Given the description of an element on the screen output the (x, y) to click on. 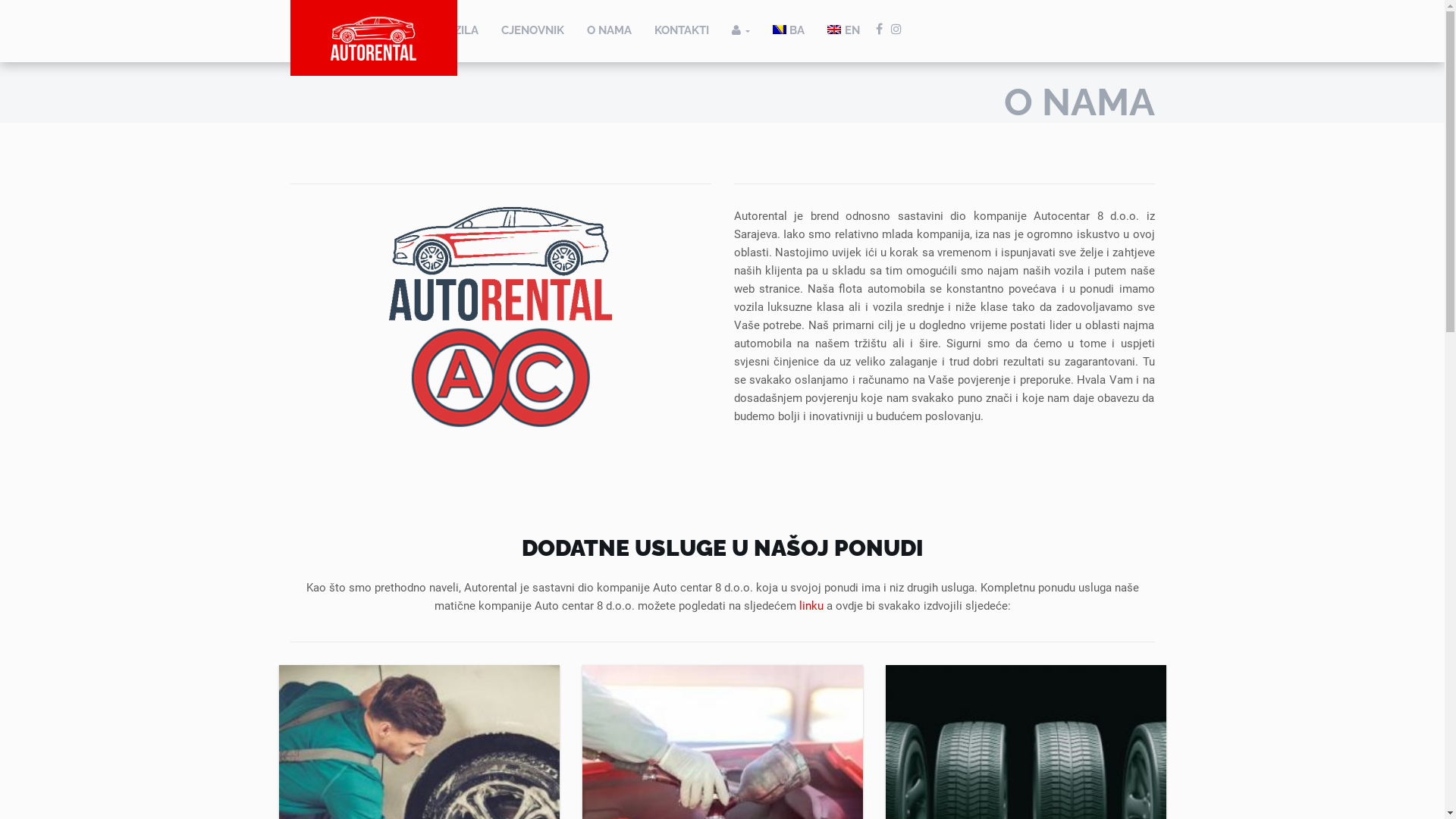
KONTAKTI Element type: text (681, 31)
BA Element type: text (788, 31)
PRETRAGA VOZILA Element type: text (427, 31)
linku Element type: text (811, 605)
Autorental renta a car Element type: hover (500, 320)
O NAMA Element type: text (608, 31)
EN Element type: text (843, 31)
CJENOVNIK Element type: text (532, 31)
